Given the description of an element on the screen output the (x, y) to click on. 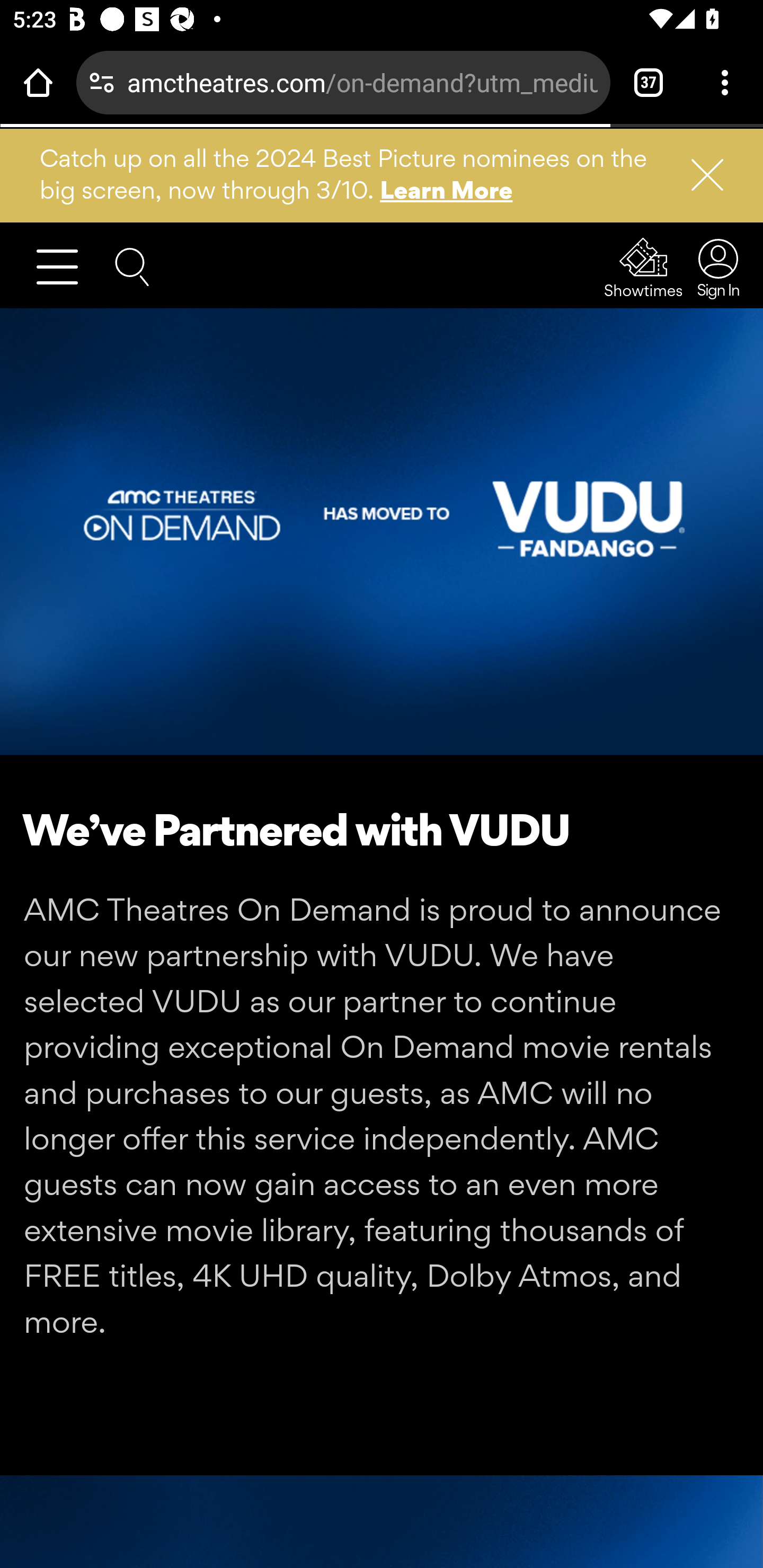
Open the home page (38, 82)
Connection is secure (101, 82)
Switch or close tabs (648, 82)
Customize and control Google Chrome (724, 82)
Dismiss Notification (699, 174)
Learn More (446, 189)
Open Menu (64, 266)
Showtimes Showtimes Showtimes (643, 267)
Sign In (713, 267)
Search the AMC website (131, 265)
